Given the description of an element on the screen output the (x, y) to click on. 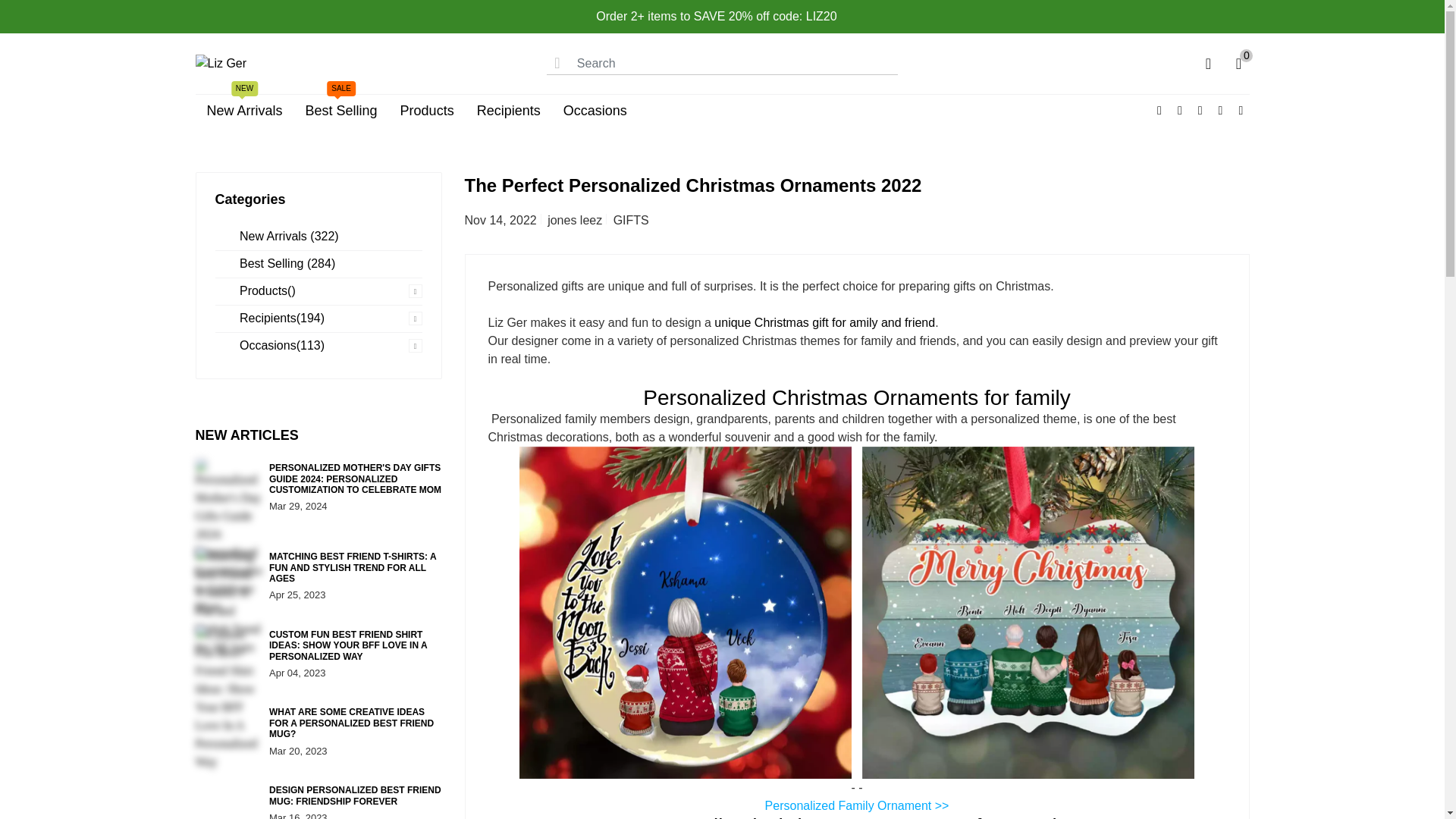
Instagram (1219, 110)
Facebook (1159, 110)
Pinterest (1199, 110)
Twitter (1180, 110)
My Bag (1238, 63)
Youtube (1240, 110)
Liz Ger (221, 62)
